Given the description of an element on the screen output the (x, y) to click on. 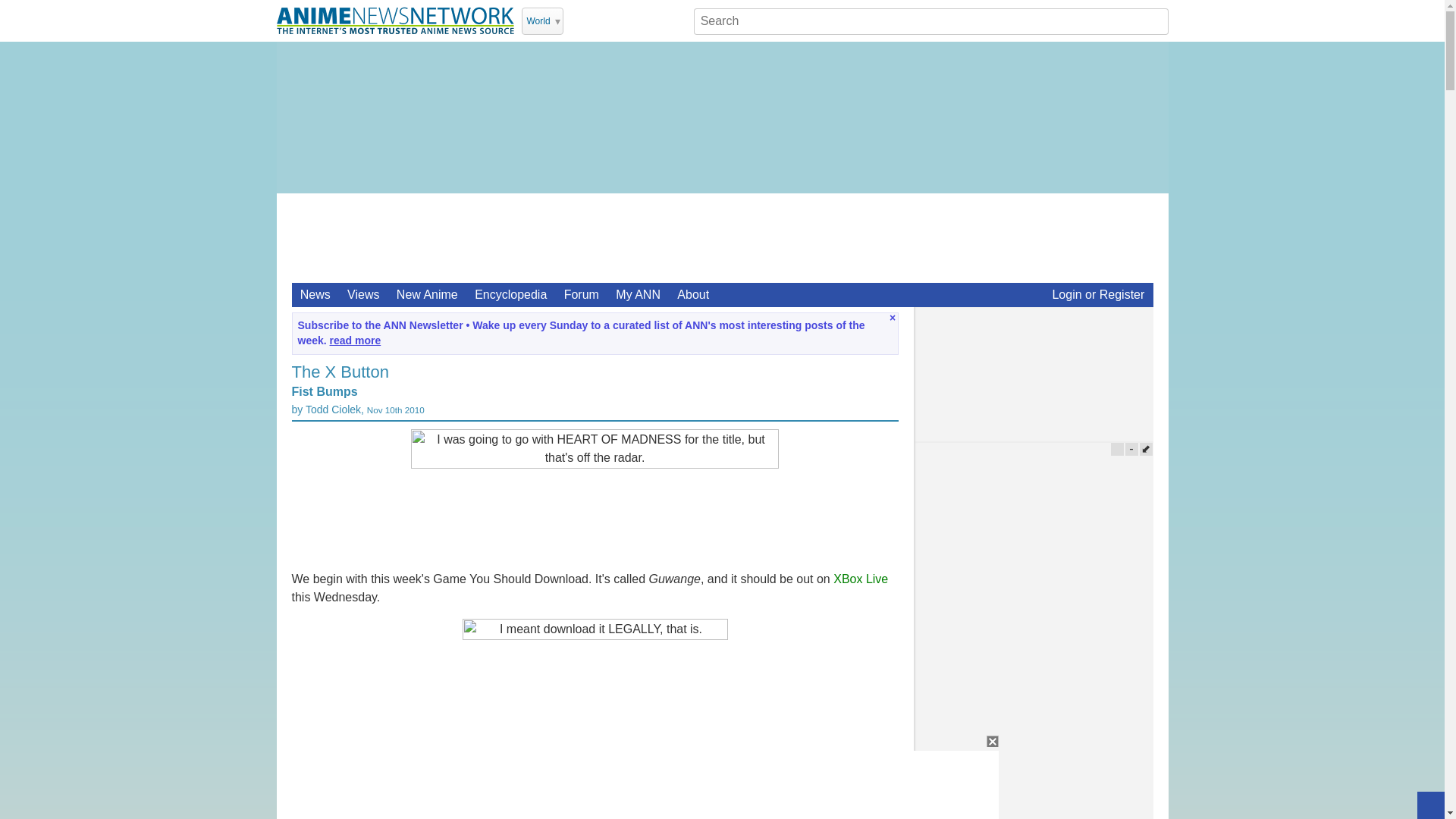
TikTok (656, 20)
Youtube (597, 20)
Facebook (617, 20)
Return to Homepage (394, 20)
Choose Your Edition (542, 21)
Instagram (636, 20)
Twitter (577, 20)
Bluesky (675, 20)
